Given the description of an element on the screen output the (x, y) to click on. 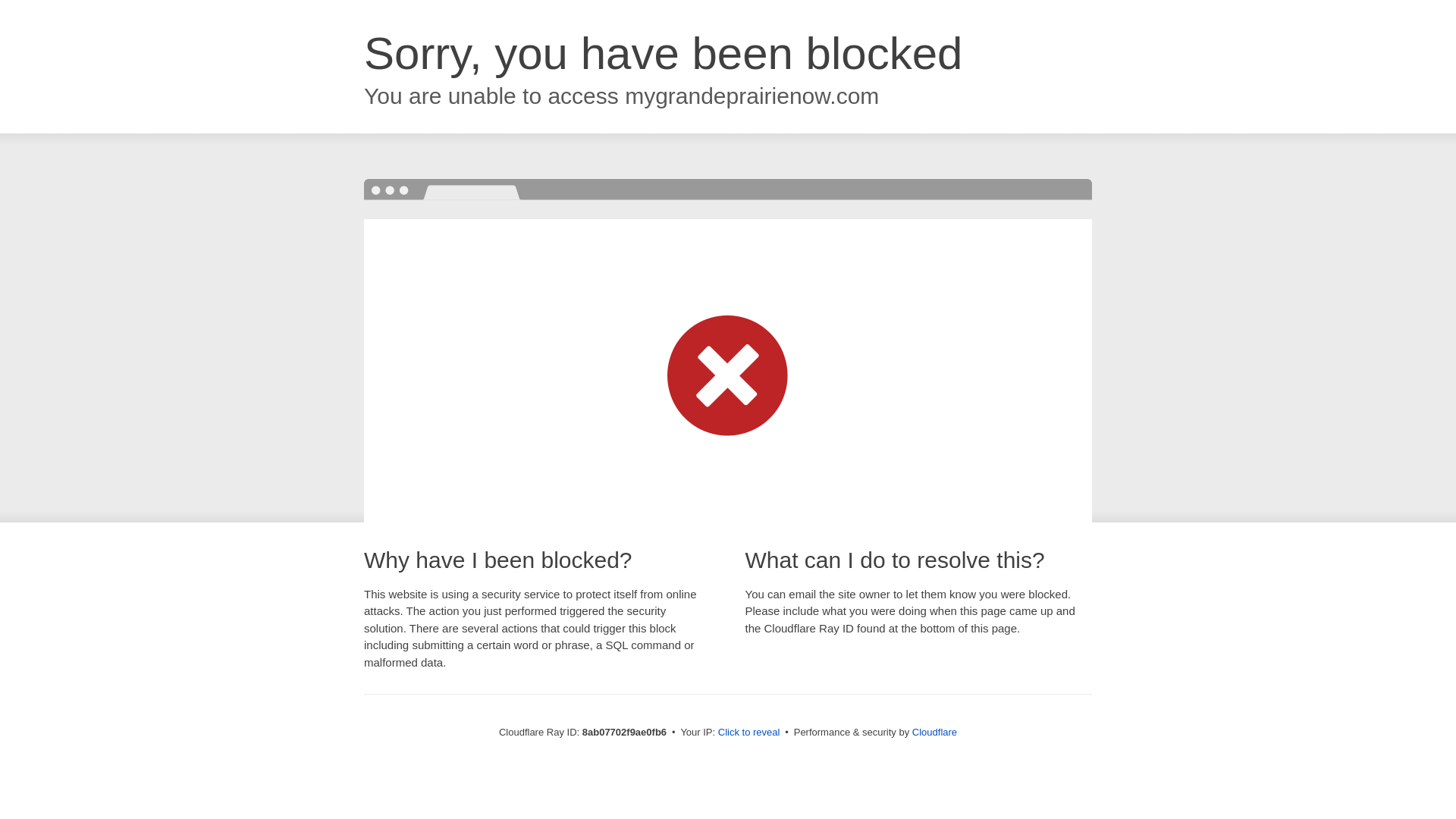
Cloudflare (934, 731)
Click to reveal (748, 732)
